Given the description of an element on the screen output the (x, y) to click on. 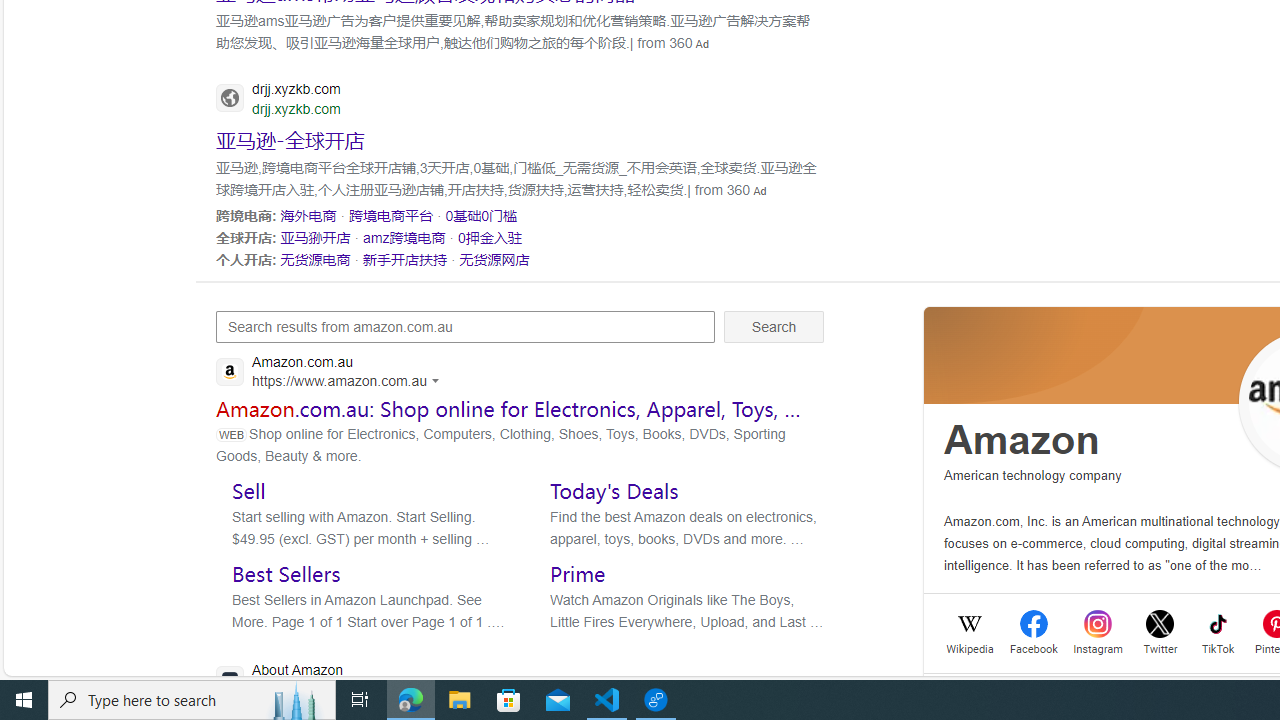
Type here to search (191, 699)
SERP,5568 (481, 215)
SERP,5564 (290, 138)
About Amazon (398, 681)
SERP,5571 (489, 237)
SERP,5573 (405, 259)
Wikipedia (969, 646)
American technology company (1033, 475)
Task View (359, 699)
Start (24, 699)
Today's Deals (614, 489)
